Given the description of an element on the screen output the (x, y) to click on. 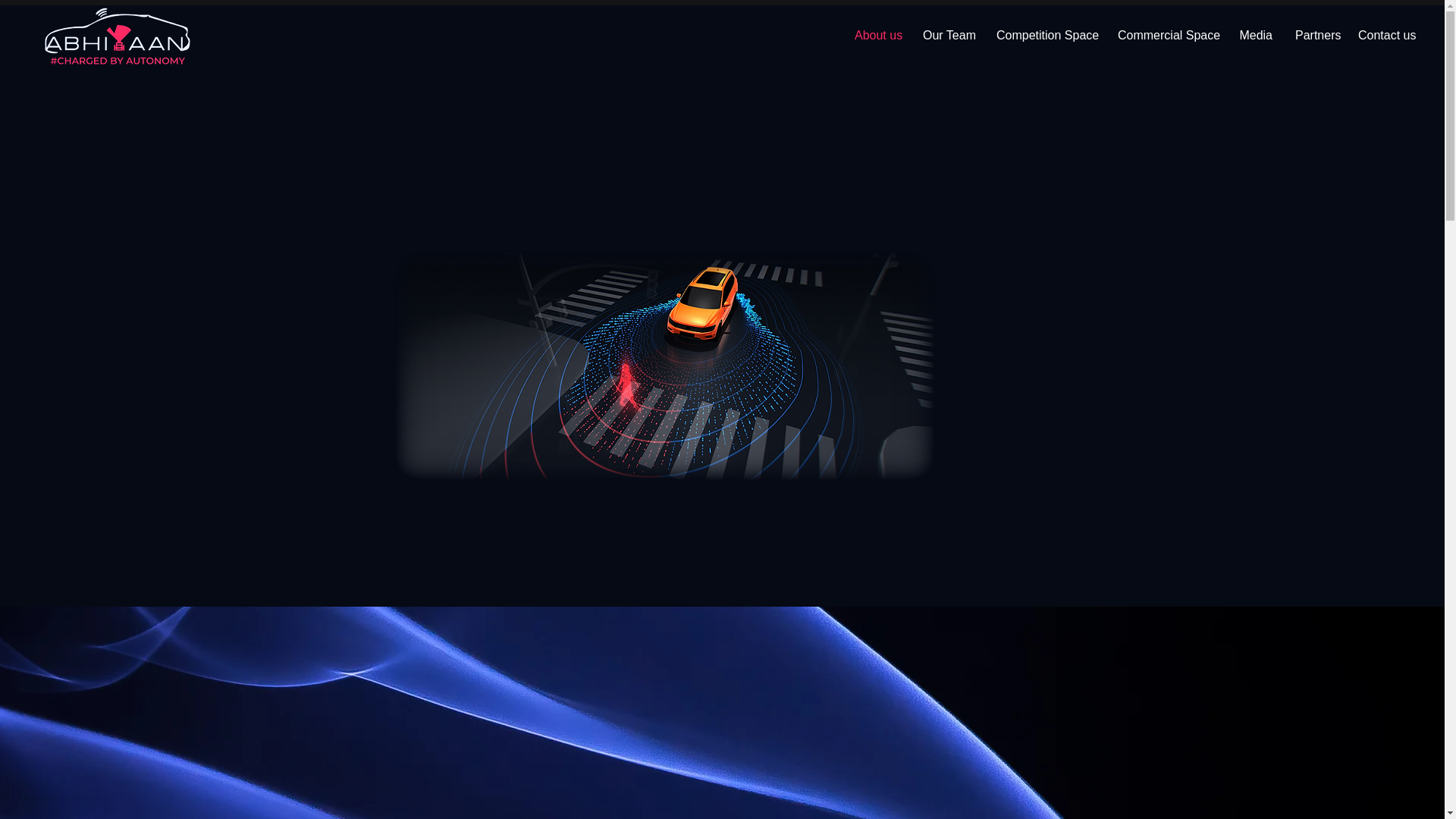
Commercial Space (1166, 35)
Partners (1315, 35)
Competition Space (1045, 35)
About us (877, 35)
Media (1255, 35)
Contact us (1384, 35)
Our Team (948, 35)
